Given the description of an element on the screen output the (x, y) to click on. 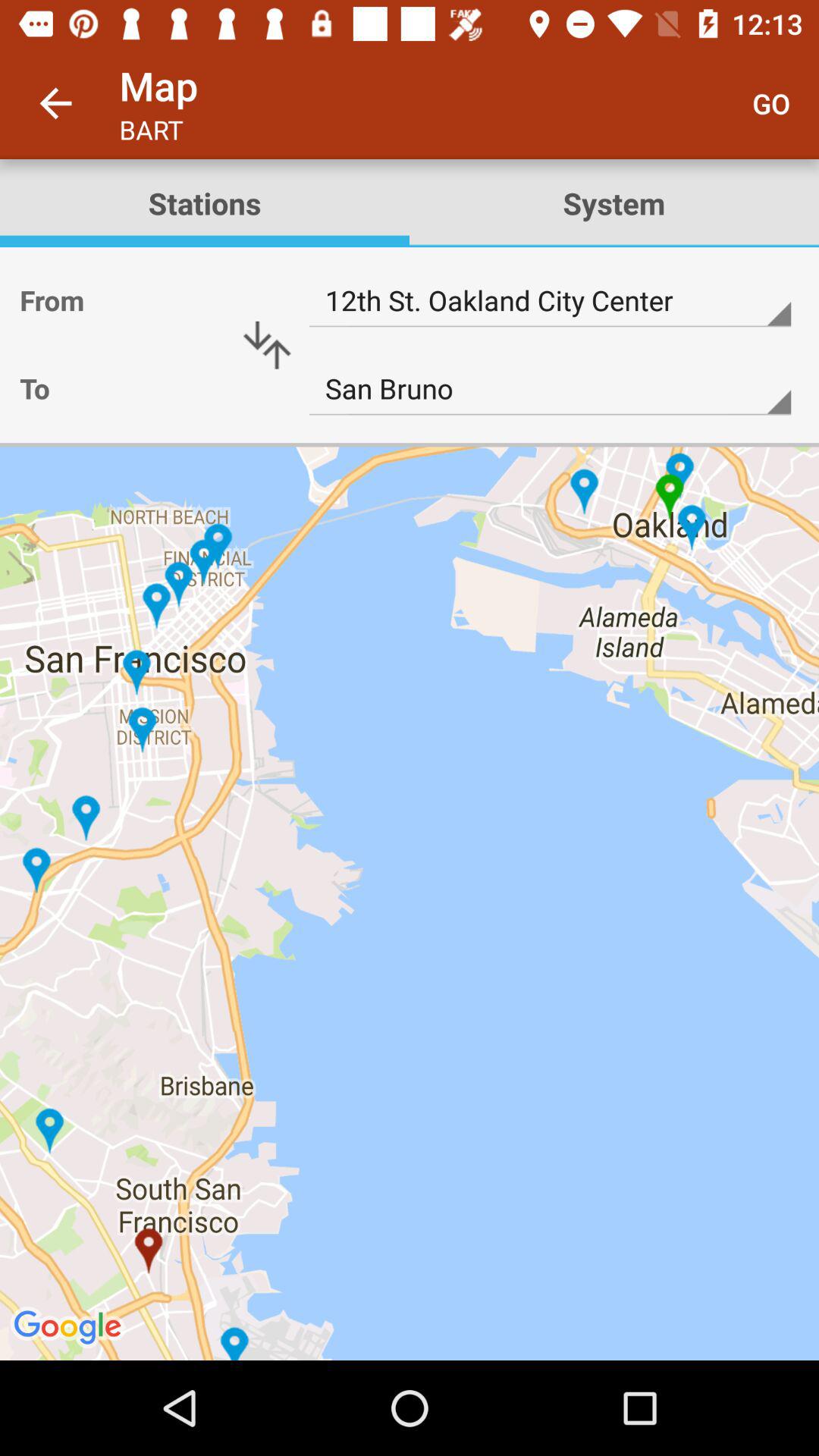
press icon to the left of 12th st oakland item (267, 345)
